Given the description of an element on the screen output the (x, y) to click on. 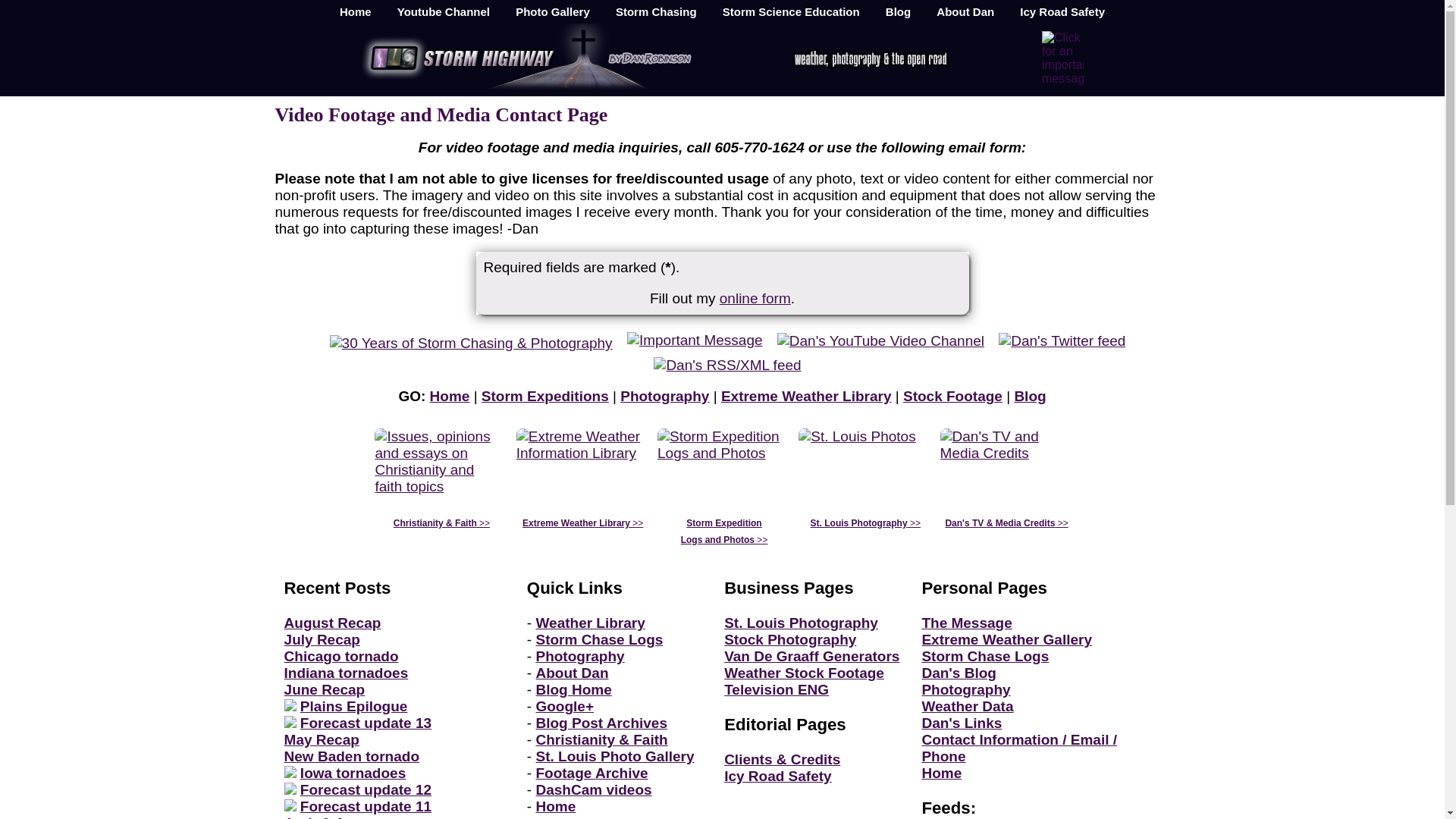
Storm Chasing (655, 11)
Storm Expeditions (544, 396)
Youtube Channel (442, 11)
Stock Footage (952, 396)
Photography (664, 396)
online form (754, 298)
Extreme Weather Library (805, 396)
Icy Road Safety (1062, 11)
Blog (1029, 396)
About Dan (965, 11)
